Given the description of an element on the screen output the (x, y) to click on. 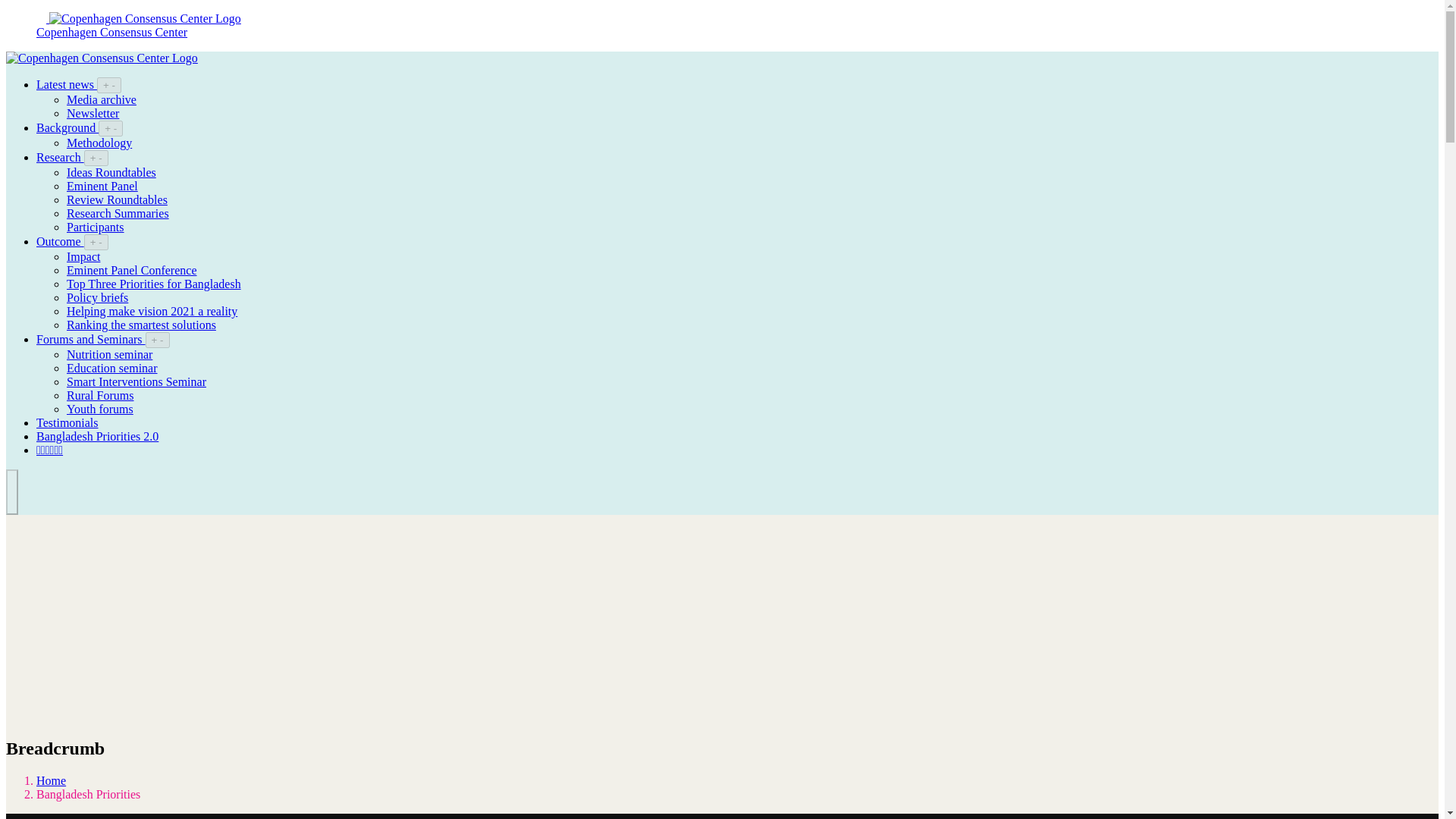
Ideas Roundtables (110, 172)
Latest news (66, 83)
Education seminar (111, 367)
Background (67, 127)
Impact (83, 256)
Nutrition seminar (109, 354)
FE43DF93-13CD-493E-BEF2-A77A9E7D6926 (41, 18)
Forums and Seminars (90, 338)
Media archive (101, 99)
Methodology (99, 142)
Research Summaries (117, 213)
Newsletter (92, 113)
Review Roundtables (116, 199)
Eminent Panel (102, 185)
Smart Interventions Seminar (136, 381)
